Given the description of an element on the screen output the (x, y) to click on. 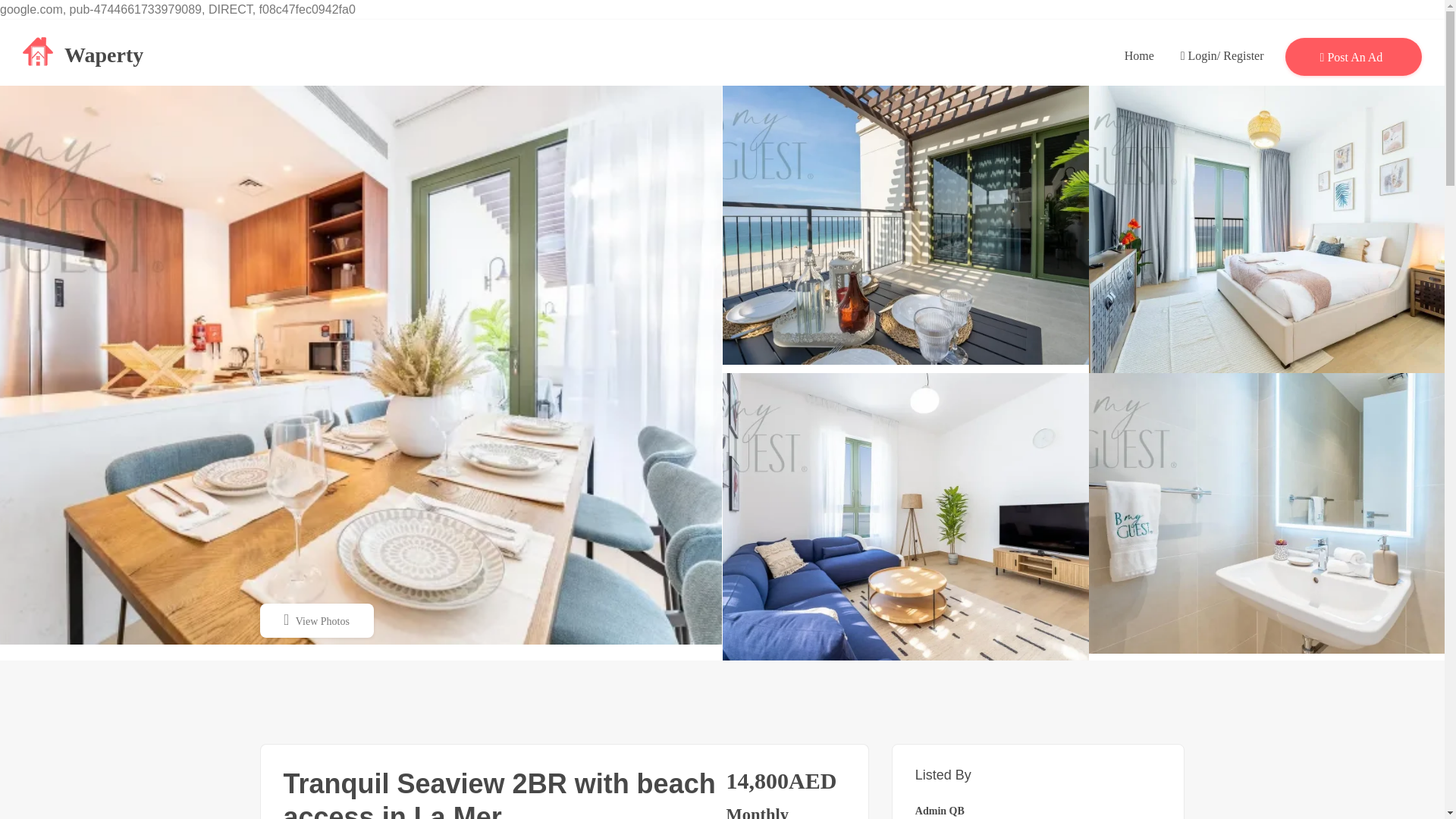
Waperty (82, 51)
Post An Ad (1353, 54)
View Photos (315, 620)
